Given the description of an element on the screen output the (x, y) to click on. 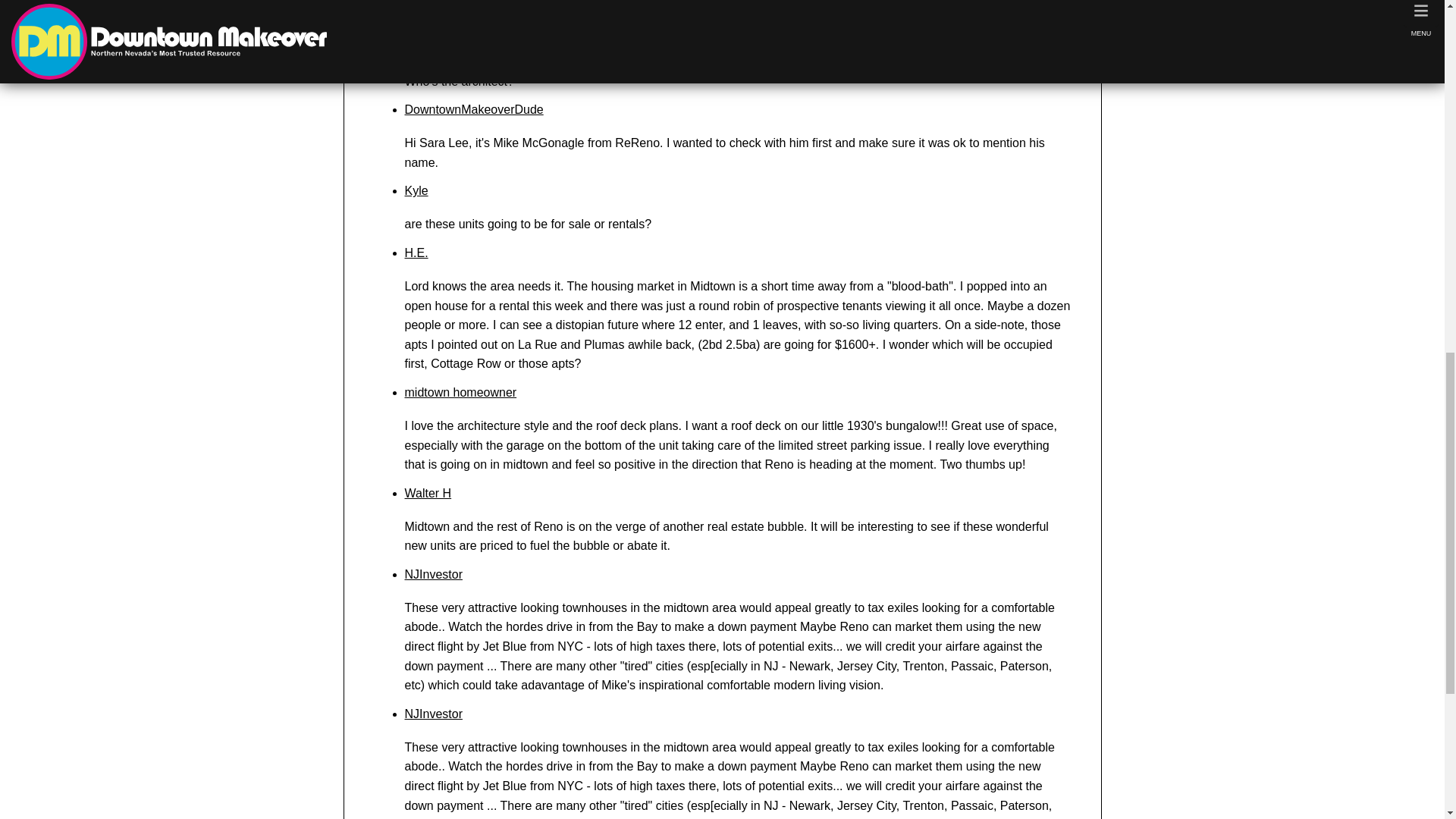
Post your comments (429, 21)
DowntownMakeoverDude (473, 109)
Kyle (416, 190)
Midtown living (701, 0)
midtown homeowner (460, 391)
Sara Lee (429, 47)
S3 Development (711, 7)
H.E. (416, 252)
permits (643, 0)
1401 Midtown (853, 0)
